Given the description of an element on the screen output the (x, y) to click on. 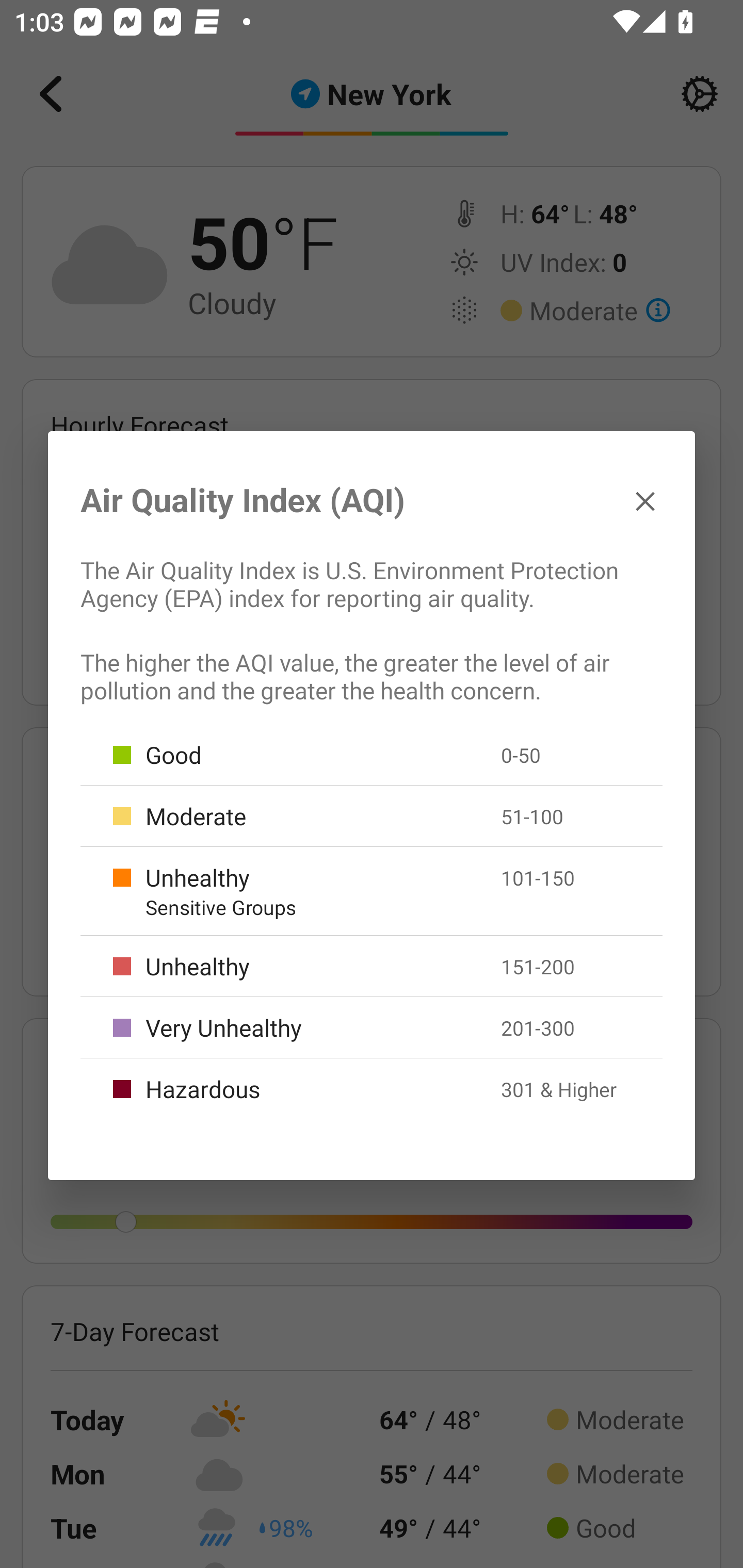
✕ (644, 499)
